Given the description of an element on the screen output the (x, y) to click on. 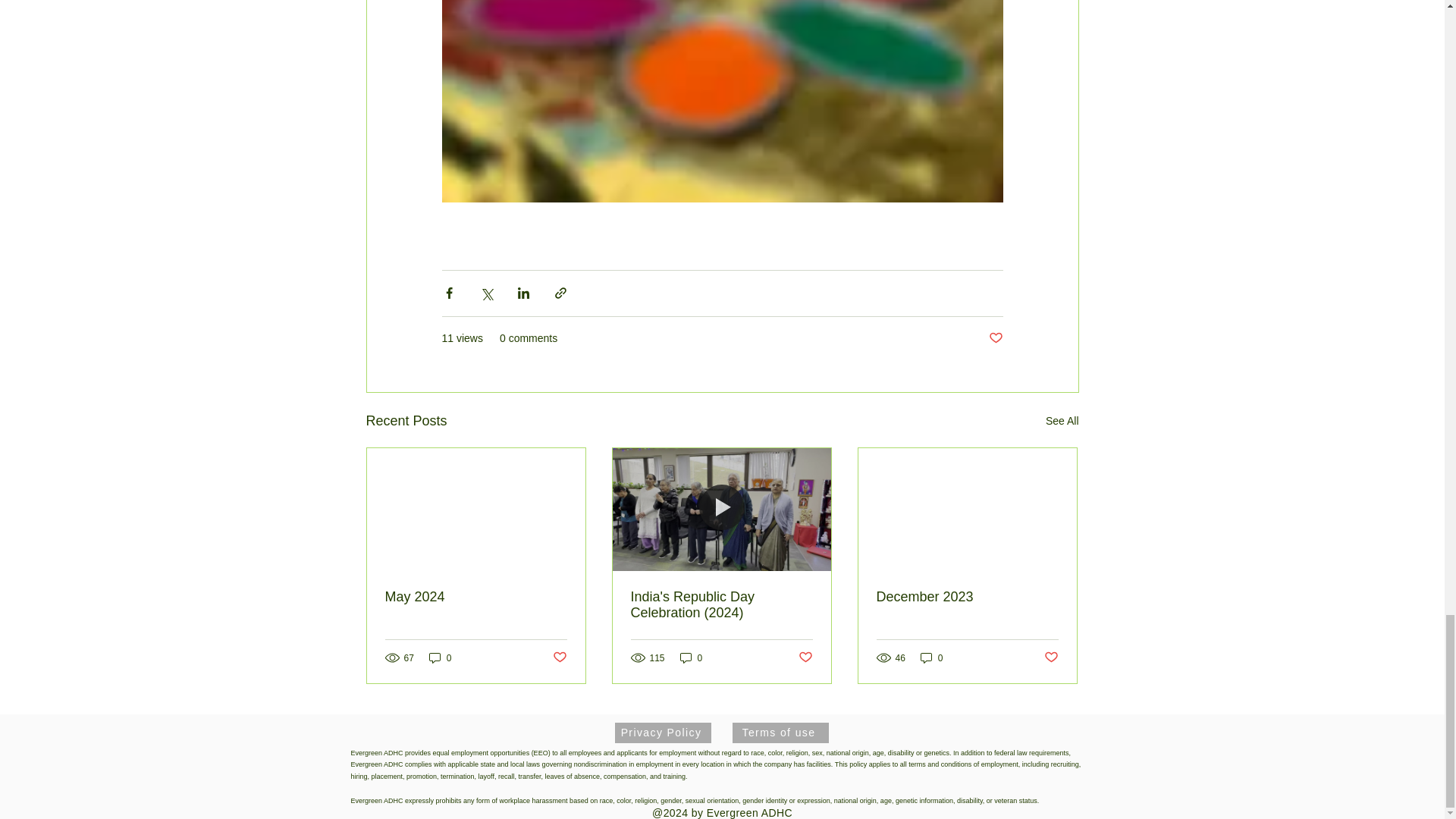
Post not marked as liked (1050, 657)
Privacy Policy (662, 732)
Terms of use (780, 732)
0 (691, 657)
See All (1061, 421)
0 (440, 657)
Post not marked as liked (558, 657)
Post not marked as liked (995, 338)
Post not marked as liked (804, 657)
May 2024 (476, 596)
0 (931, 657)
December 2023 (967, 596)
